Given the description of an element on the screen output the (x, y) to click on. 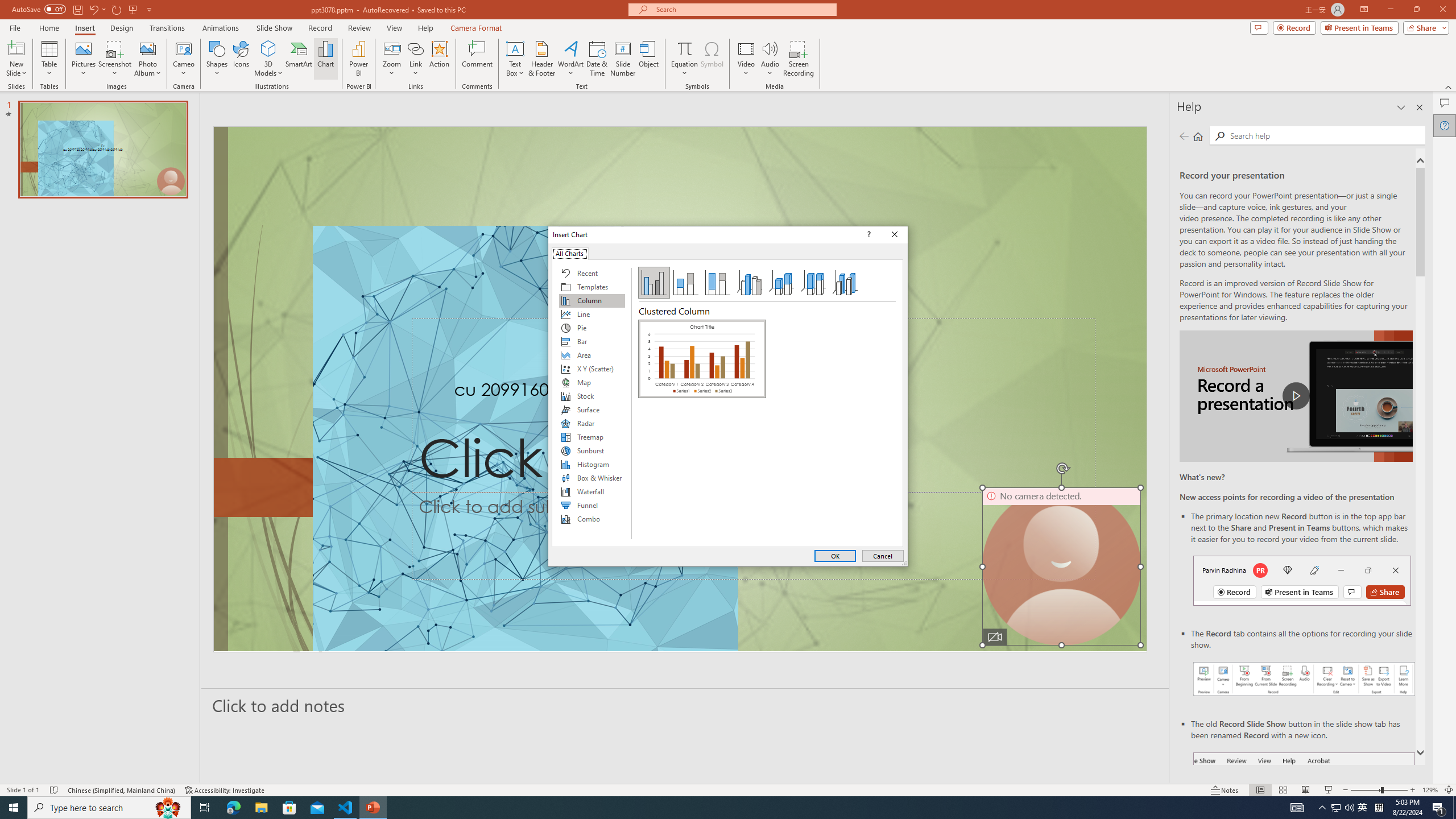
Photo Album... (147, 58)
Map (591, 382)
Power BI (358, 58)
Radar (591, 423)
Sunburst (591, 450)
Link (415, 58)
Class: NetUIGalleryContainer (701, 429)
Action (439, 58)
OK (834, 555)
3-D 100% Stacked Column (813, 282)
